Given the description of an element on the screen output the (x, y) to click on. 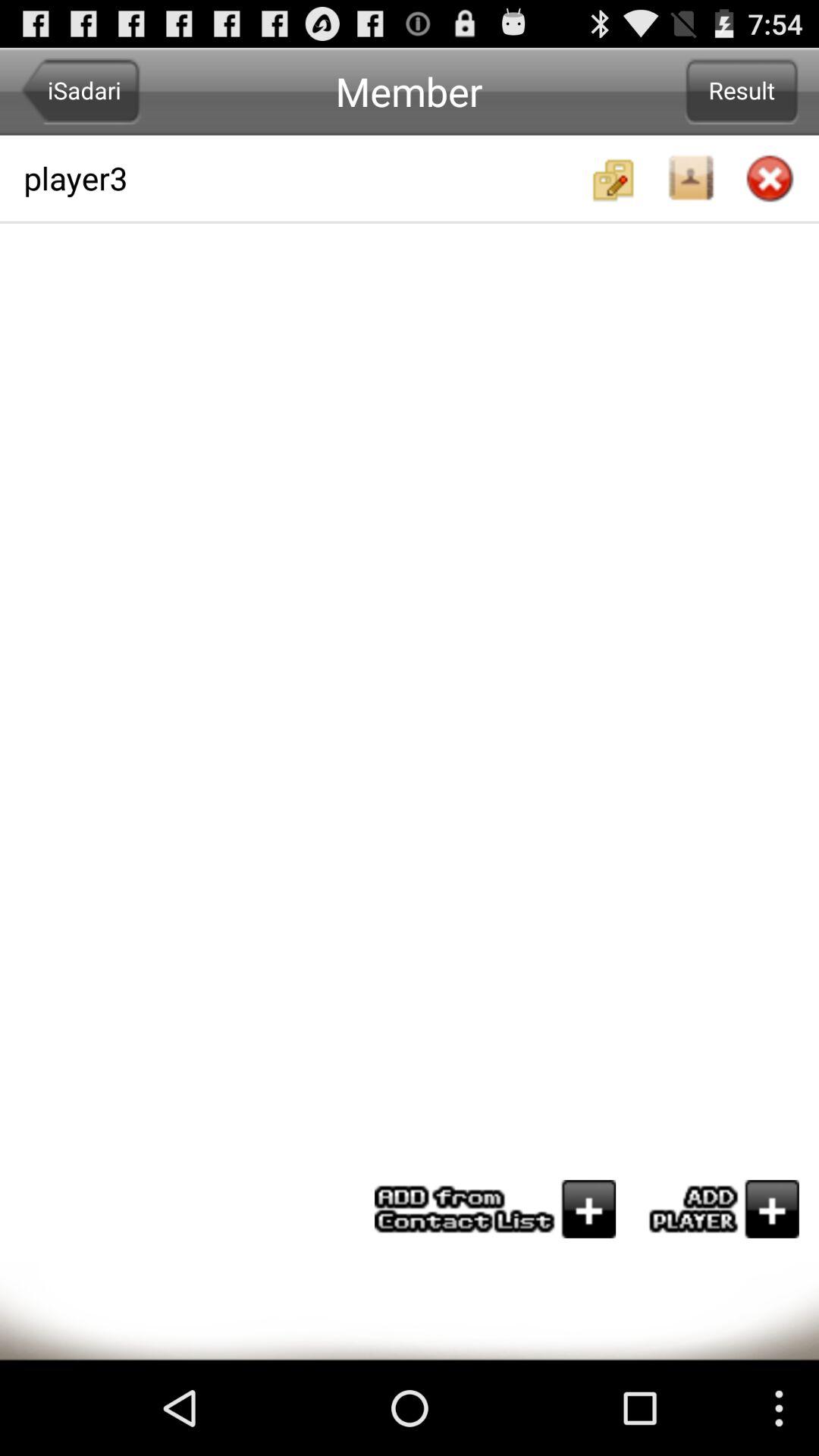
turn on the item below the isadari (304, 178)
